Given the description of an element on the screen output the (x, y) to click on. 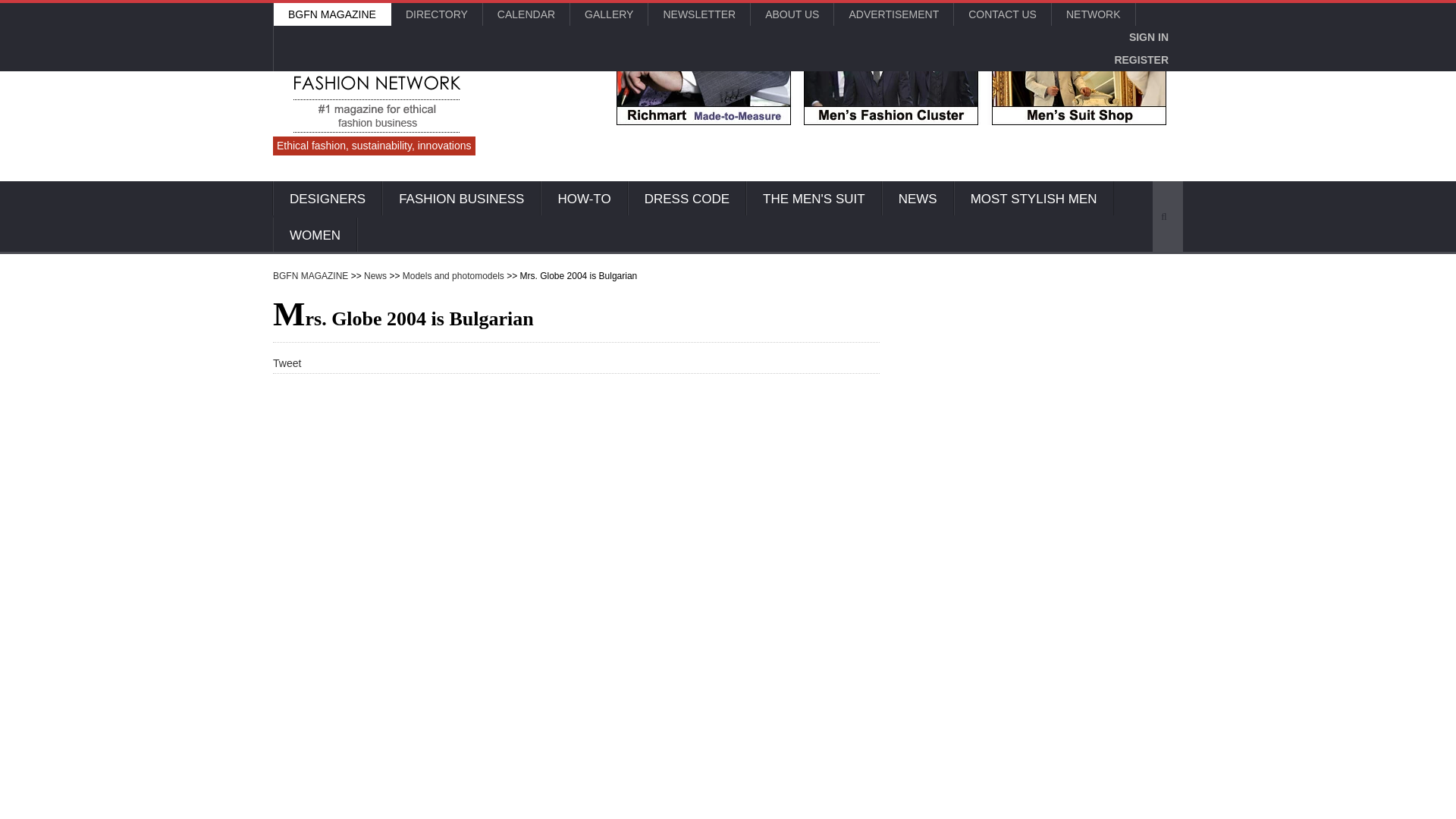
CALENDAR (526, 14)
FASHION BUSINESS (460, 198)
CONTACT US (1002, 14)
BGFN MAGAZINE (331, 14)
ABOUT US (791, 14)
DIRECTORY (436, 14)
ADVERTISEMENT (893, 14)
NETWORK (1093, 14)
NEWSLETTER (698, 14)
GALLERY (608, 14)
